Given the description of an element on the screen output the (x, y) to click on. 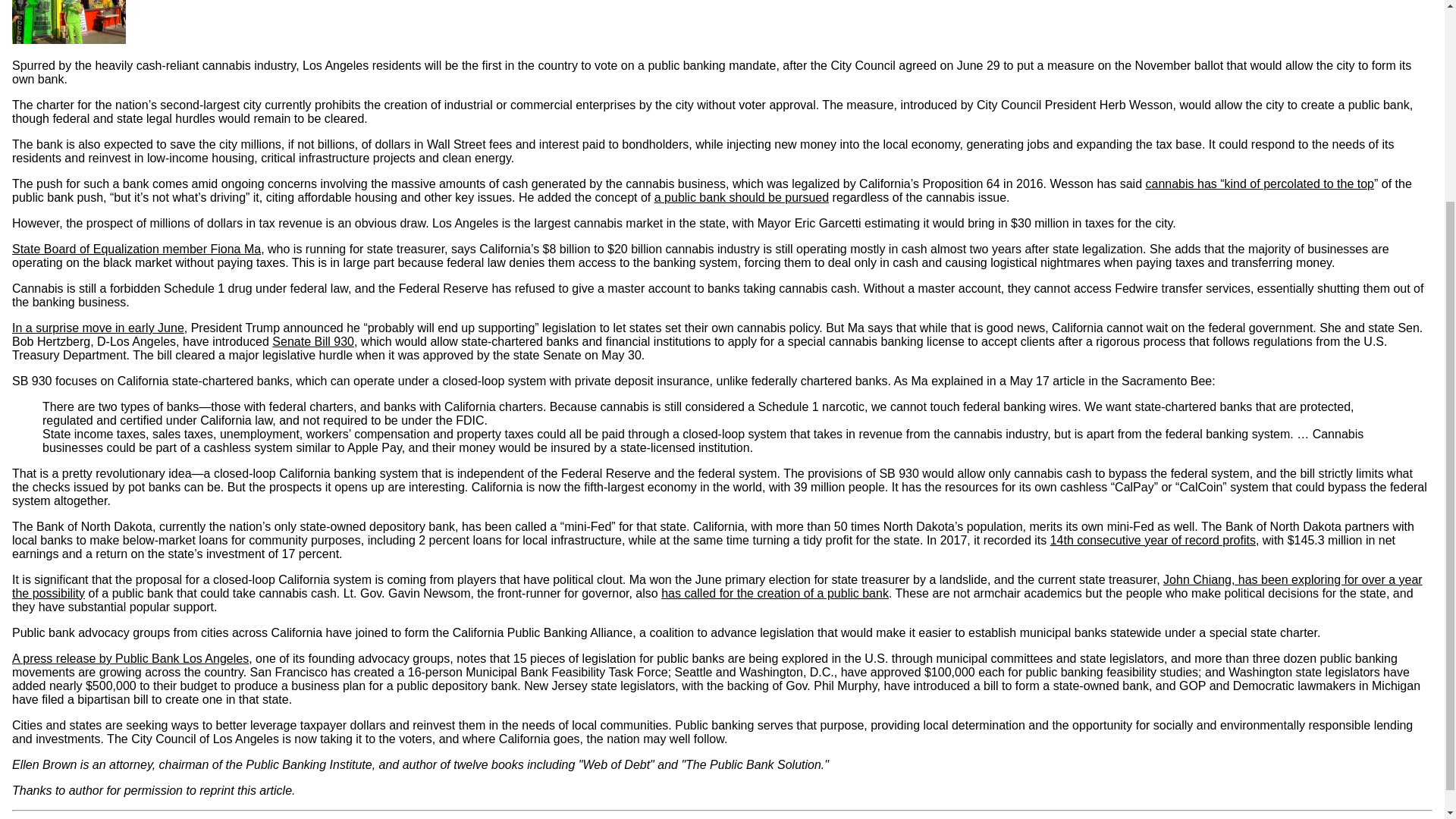
State Board of Equalization member Fiona Ma (135, 248)
In a surprise move in early June (97, 327)
has called for the creation of a public bank (774, 593)
A press release by Public Bank Los Angeles (129, 658)
Senate Bill 930 (312, 341)
a public bank should be pursued (740, 196)
14th consecutive year of record profits (1152, 540)
